Given the description of an element on the screen output the (x, y) to click on. 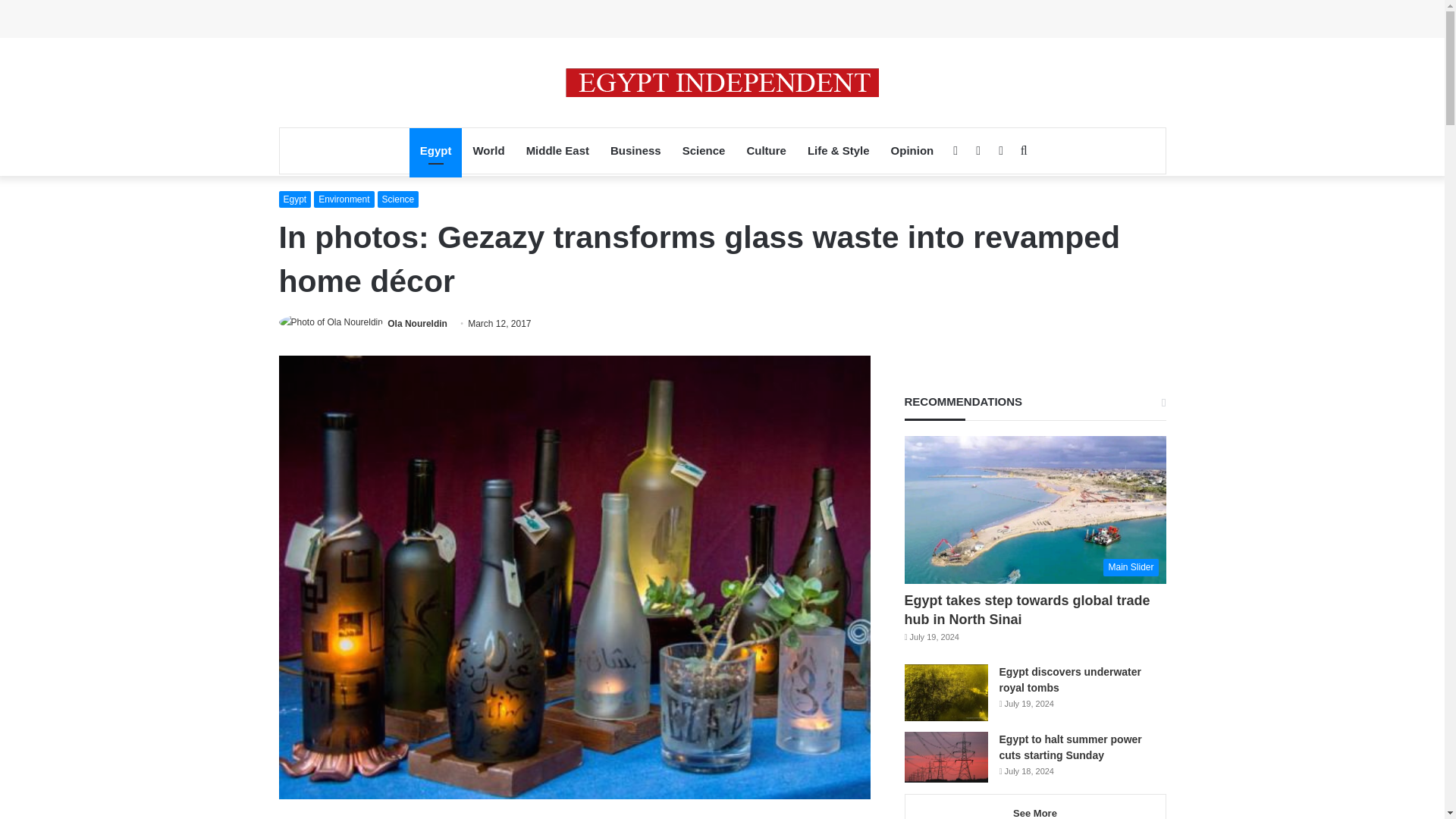
Egypt (436, 150)
Egypt (295, 199)
Science (703, 150)
Egypt Independent (722, 82)
Middle East (557, 150)
Culture (765, 150)
Science (398, 199)
Opinion (912, 150)
World (488, 150)
Ola Noureldin (416, 323)
Environment (344, 199)
Ola Noureldin (416, 323)
Business (635, 150)
